Given the description of an element on the screen output the (x, y) to click on. 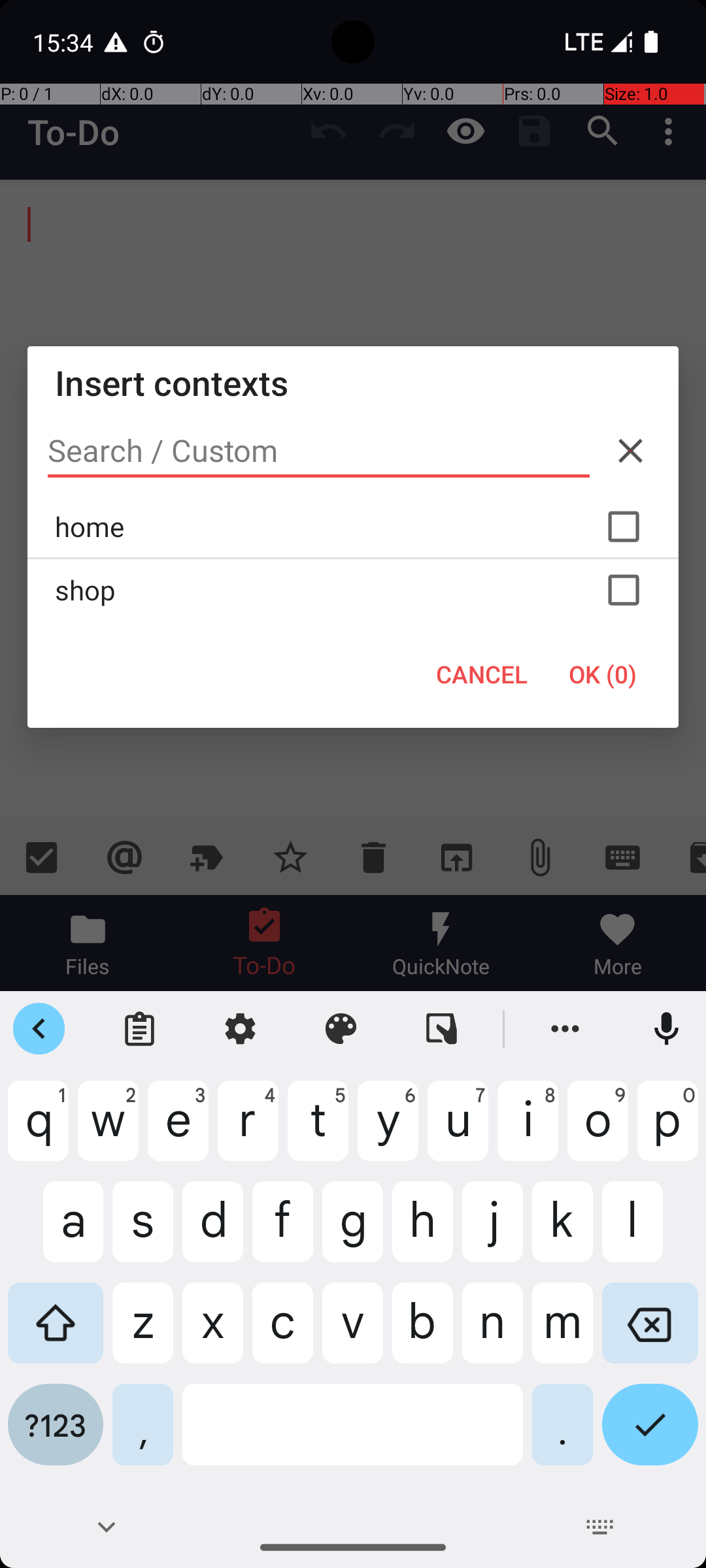
Insert contexts Element type: android.widget.TextView (352, 382)
Search / Custom Element type: android.widget.EditText (318, 450)
home Element type: android.widget.CheckedTextView (352, 526)
shop Element type: android.widget.CheckedTextView (352, 589)
OK (0) Element type: android.widget.Button (602, 673)
